Given the description of an element on the screen output the (x, y) to click on. 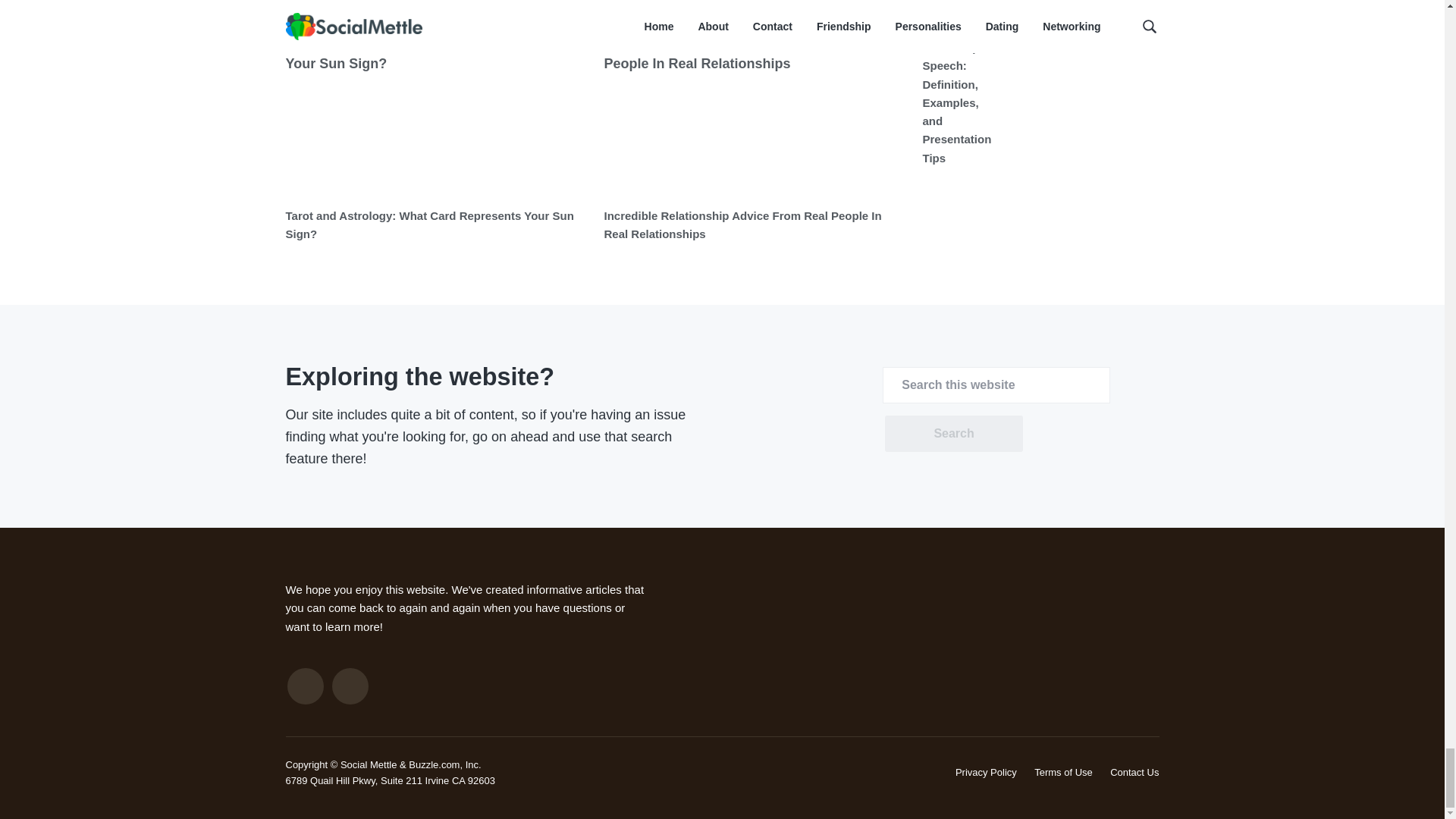
Tarot and Astrology: What Card Represents Your Sun Sign? (429, 224)
Search (953, 433)
Search (953, 433)
